Given the description of an element on the screen output the (x, y) to click on. 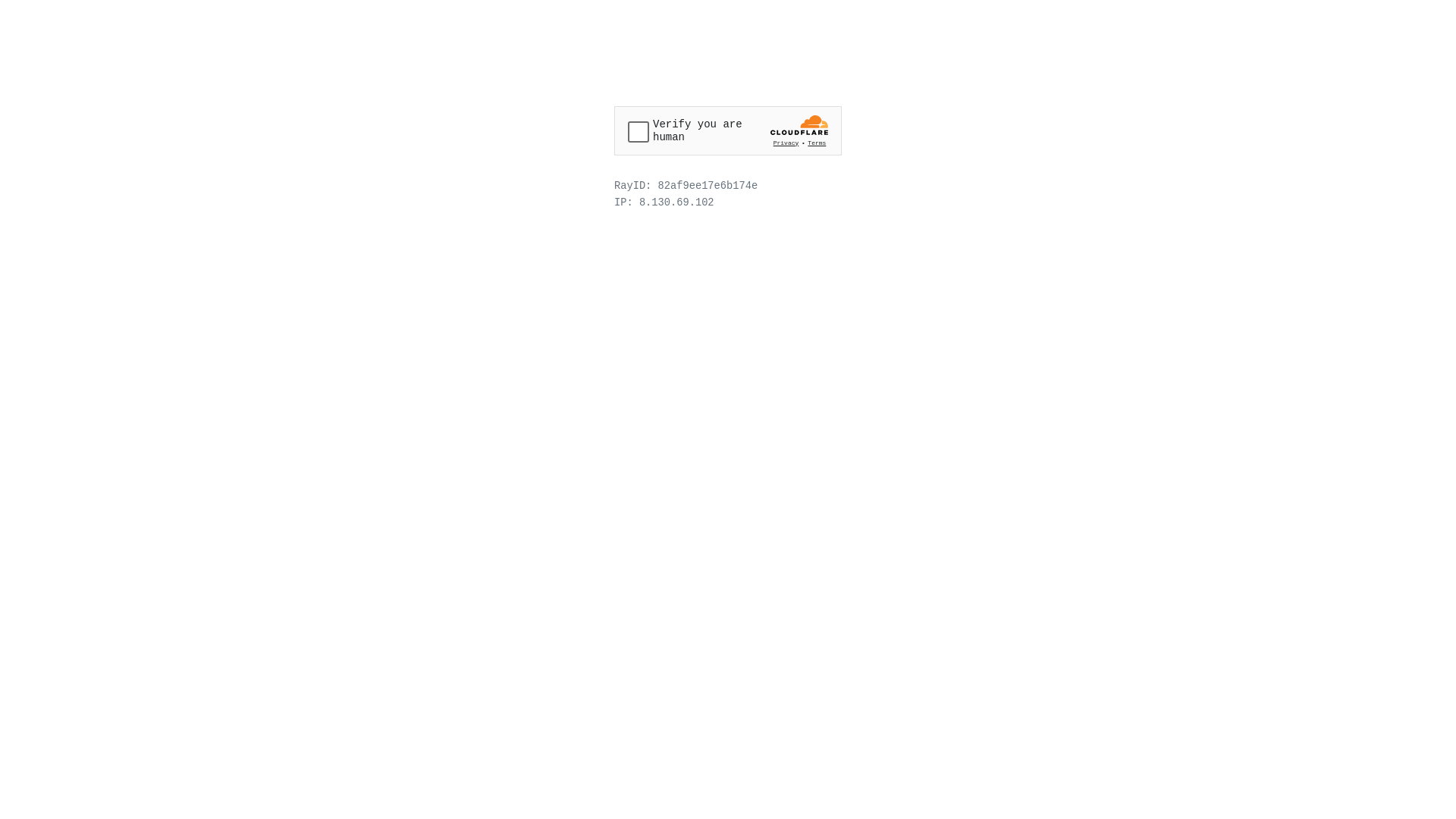
Widget containing a Cloudflare security challenge Element type: hover (727, 130)
